Given the description of an element on the screen output the (x, y) to click on. 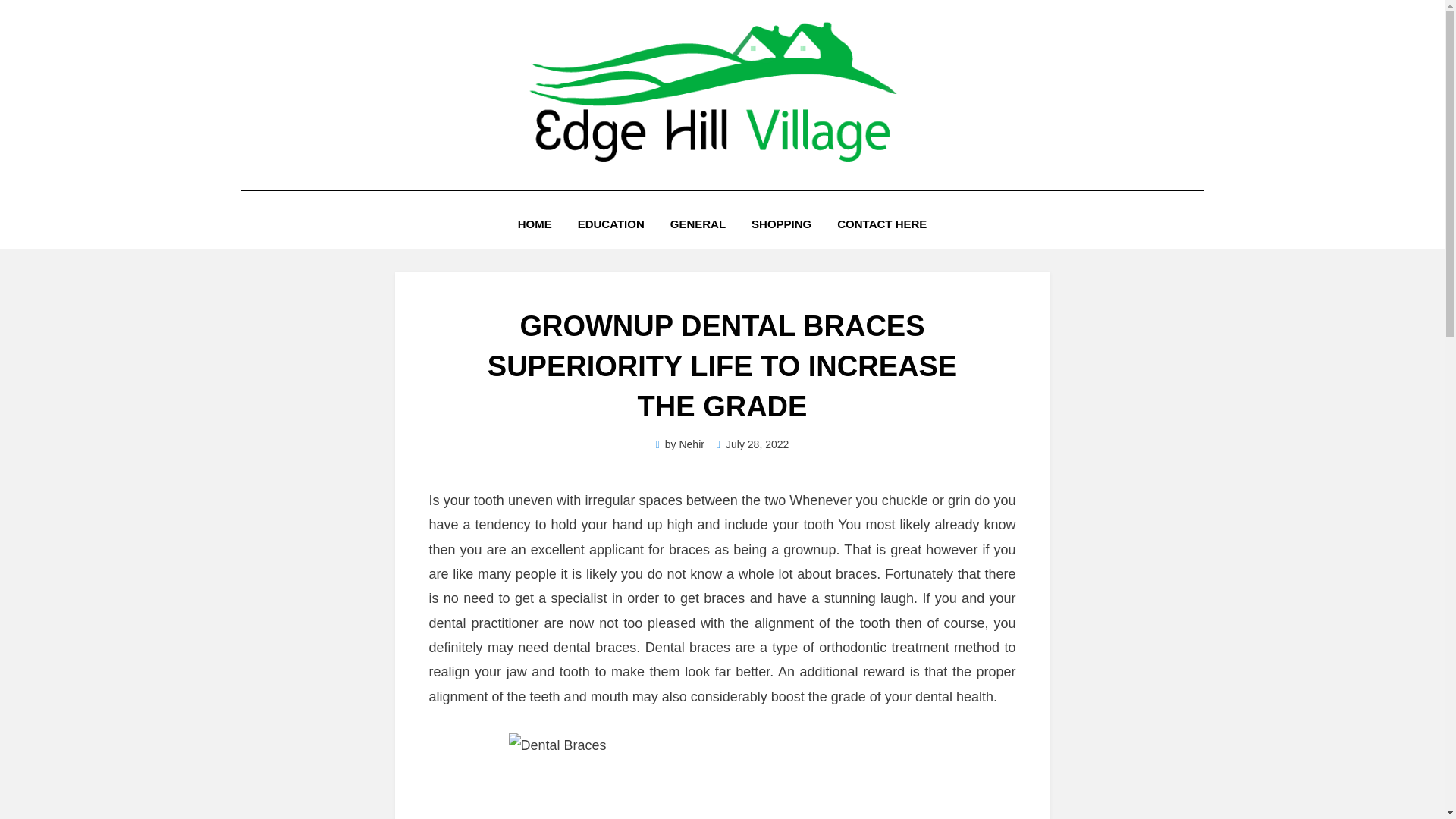
July 28, 2022 (752, 444)
CONTACT HERE (881, 223)
EDUCATION (611, 223)
SHOPPING (781, 223)
HOME (534, 223)
Nehir (690, 444)
GENERAL (698, 223)
